Given the description of an element on the screen output the (x, y) to click on. 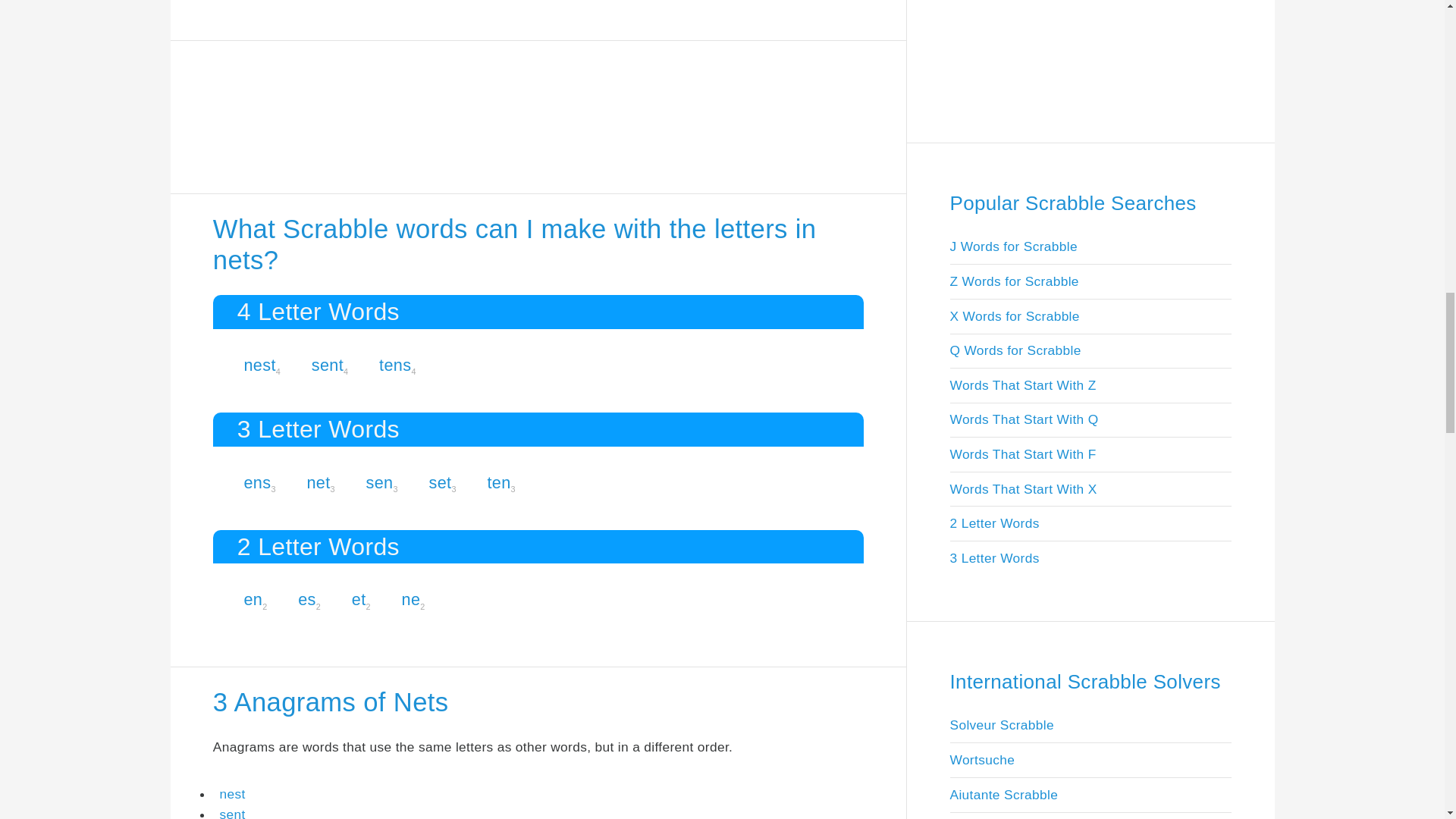
net (317, 482)
sent (327, 364)
nest (259, 364)
ens (256, 482)
tens (394, 364)
